Given the description of an element on the screen output the (x, y) to click on. 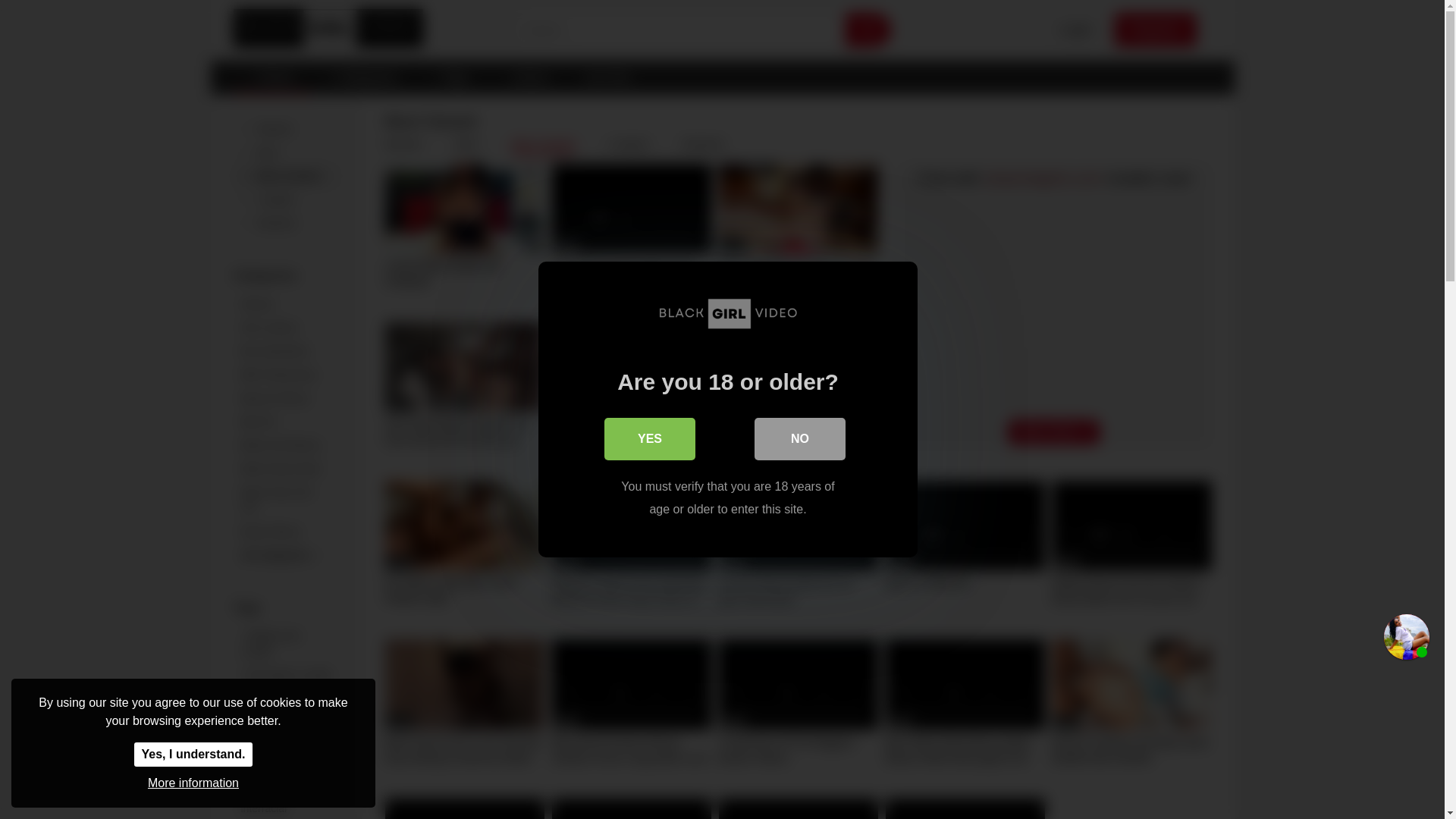
BBC Missionary (285, 374)
bbc backshots (285, 351)
Best (285, 152)
Black Step Sister (285, 468)
Foxy Brown look-alike fucks herself (631, 234)
Black and Ebony (285, 445)
French ebony Katia de Lys gets interracial (798, 551)
Search... (680, 29)
Big Tits (285, 422)
LIVEJASMIN WEBCAM STREAM (464, 234)
Categories (362, 77)
Most viewed (285, 176)
Big ass Habesha (965, 551)
Live Sex (607, 77)
